Given the description of an element on the screen output the (x, y) to click on. 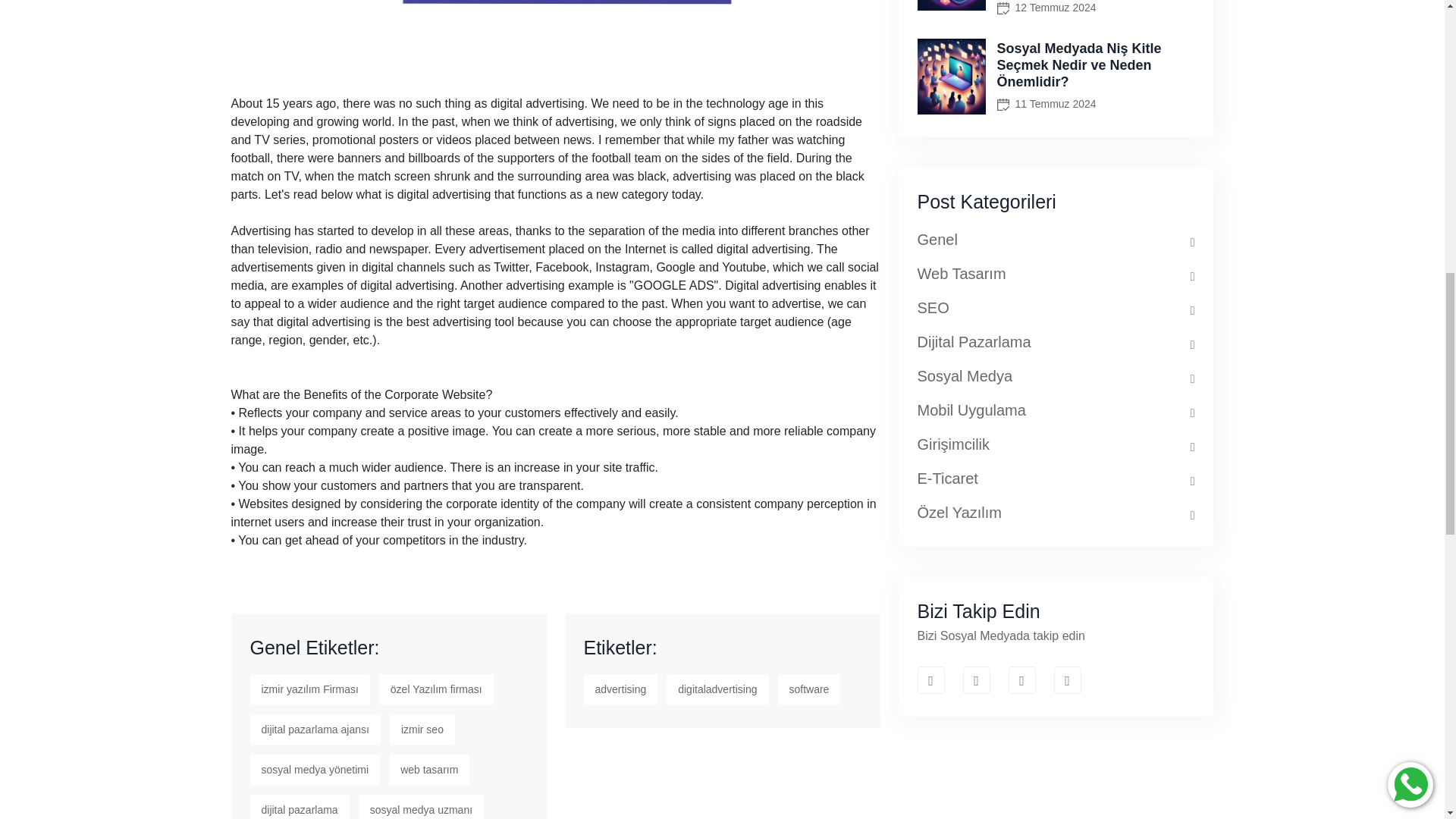
dijital pazarlama (299, 806)
izmir seo (422, 729)
